Given the description of an element on the screen output the (x, y) to click on. 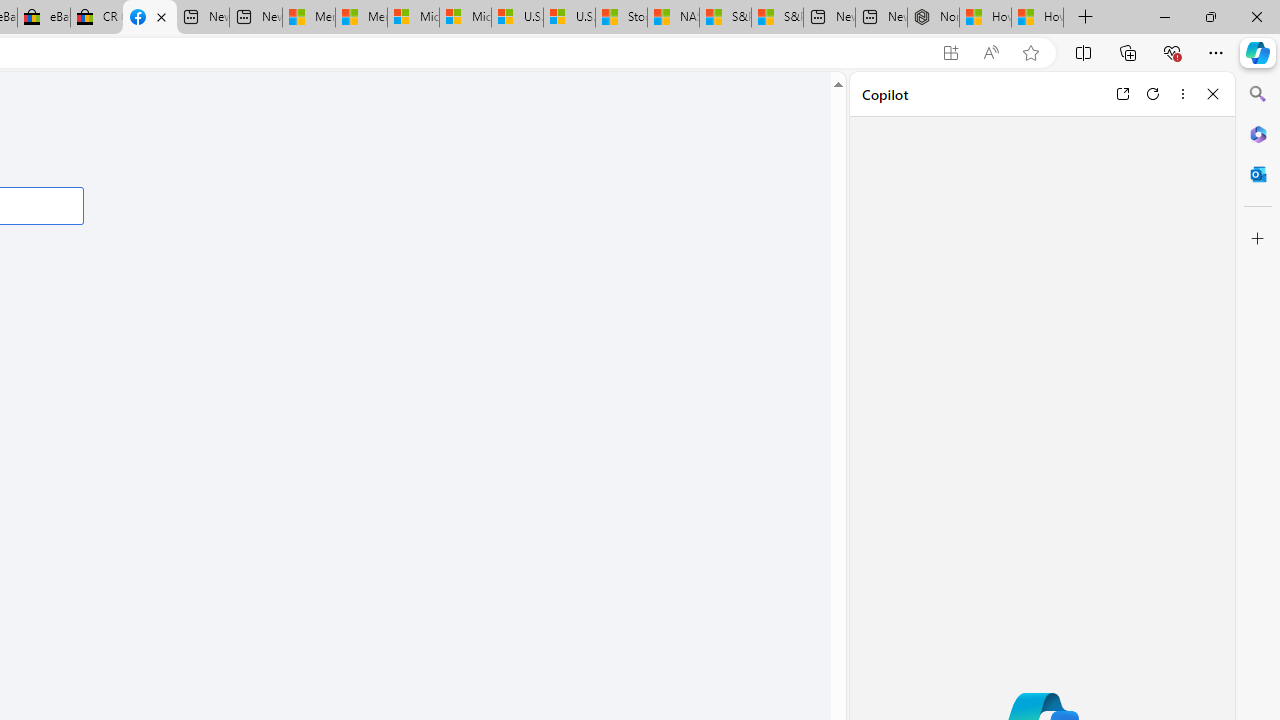
App available. Install Facebook (950, 53)
Log into Facebook (150, 17)
eBay Inc. Reports Third Quarter 2023 Results (43, 17)
Open link in new tab (1122, 93)
How to Use a Monitor With Your Closed Laptop (1037, 17)
